Given the description of an element on the screen output the (x, y) to click on. 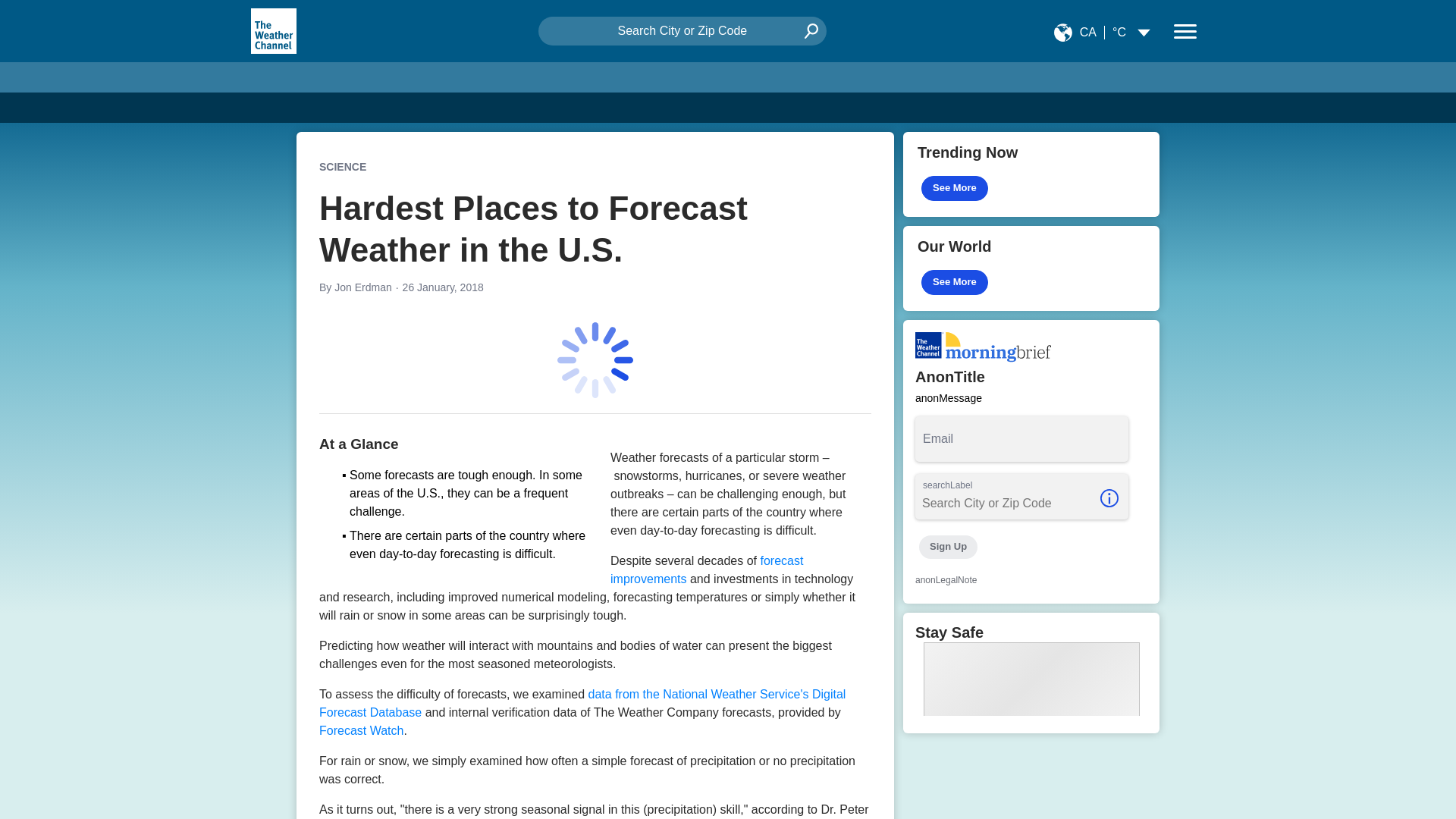
Forecast Watch (360, 730)
Our World (1030, 268)
The Weather Channel (273, 31)
Stay Safe (1030, 672)
forecast improvements (706, 569)
The Weather Channel (273, 30)
See More (954, 282)
See More (954, 188)
Trending Now (1030, 174)
